Given the description of an element on the screen output the (x, y) to click on. 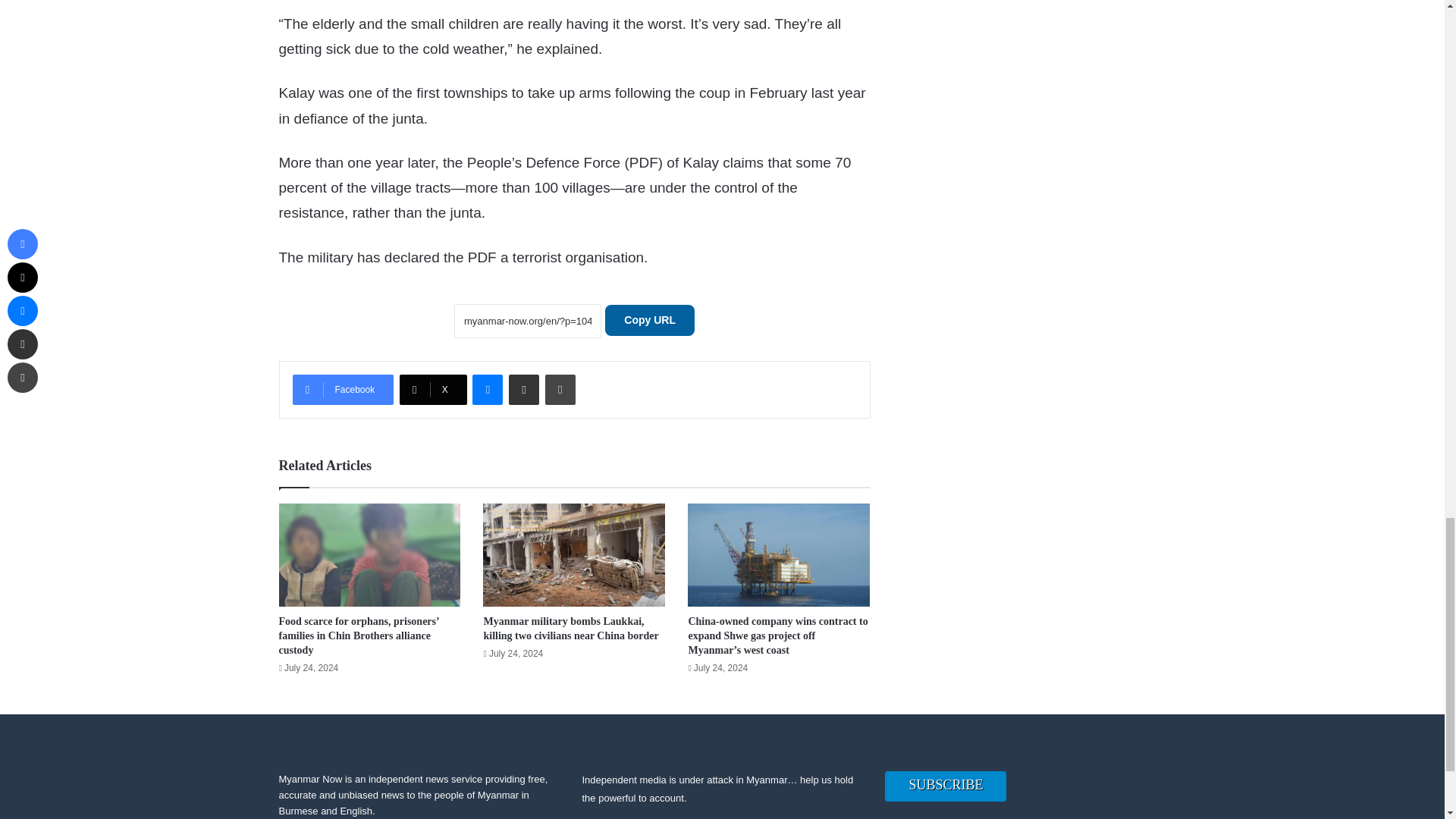
Facebook (343, 389)
Print (559, 389)
X (432, 389)
Facebook (343, 389)
Share via Email (523, 389)
Messenger (486, 389)
X (432, 389)
Copy URL (649, 319)
Share via Email (523, 389)
Messenger (486, 389)
Print (559, 389)
